Given the description of an element on the screen output the (x, y) to click on. 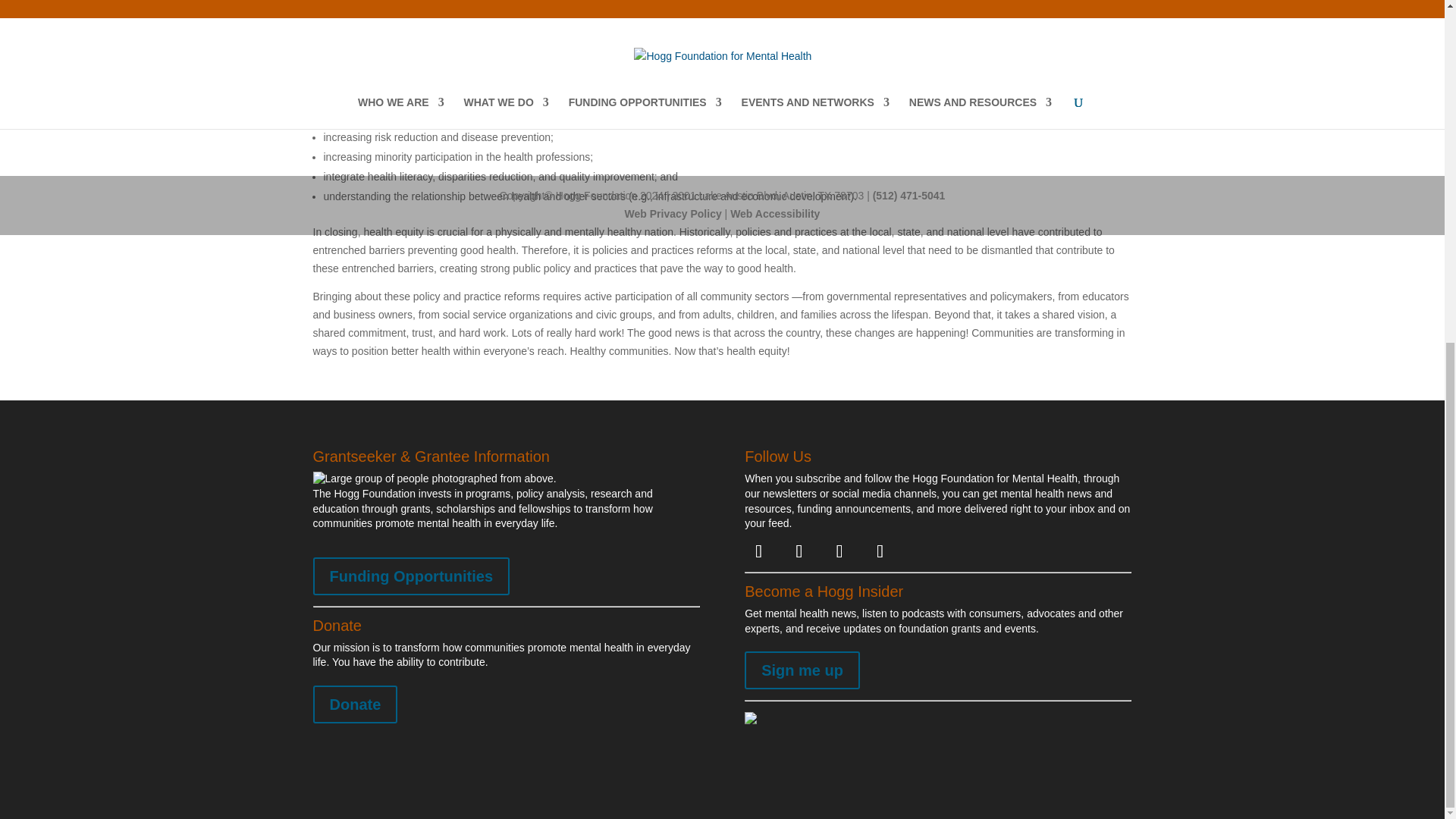
2010 Issue Brief (549, 69)
Funding Opportunities (411, 576)
Donate (355, 704)
